Given the description of an element on the screen output the (x, y) to click on. 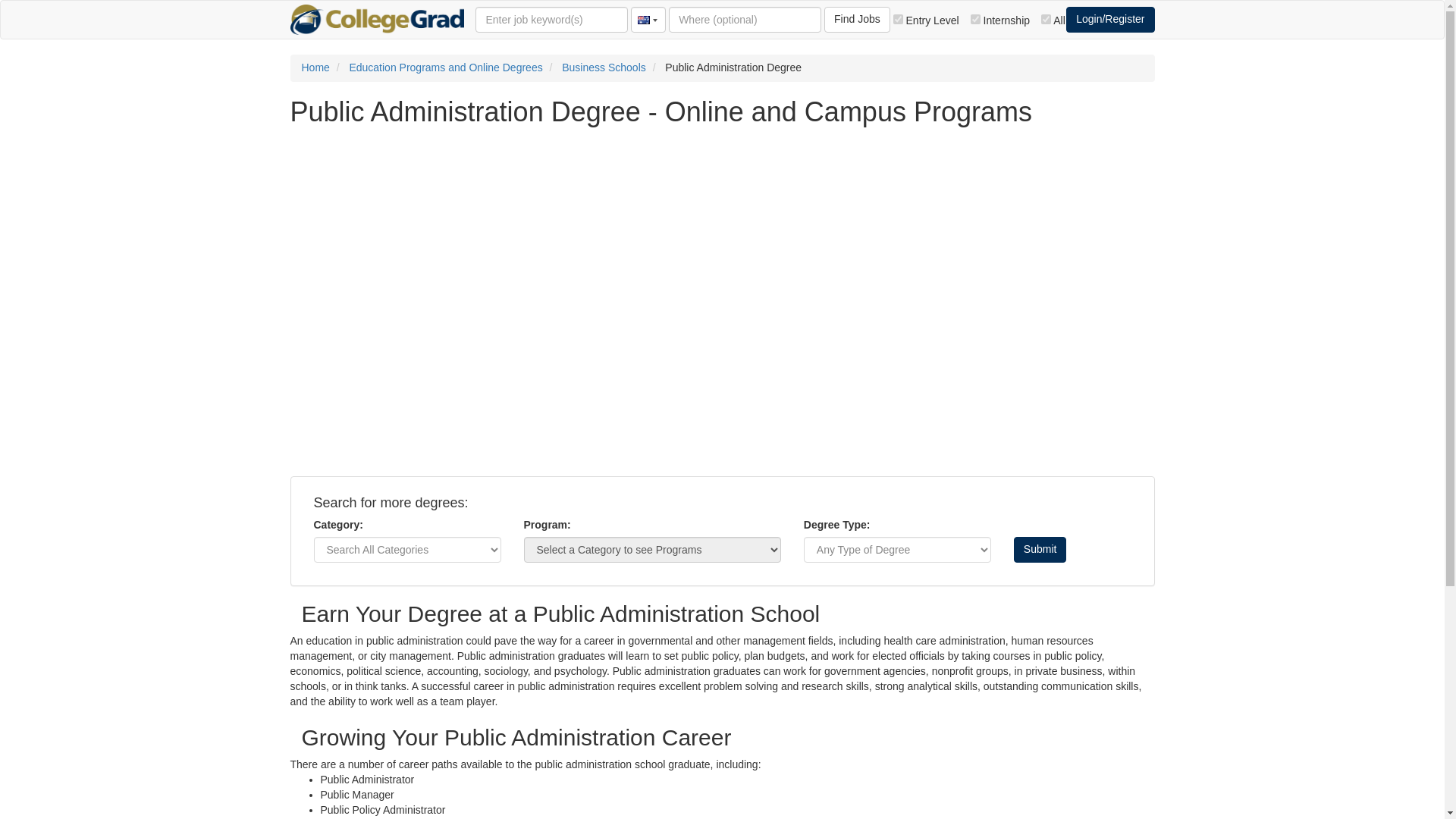
1 (897, 18)
Find Jobs (856, 19)
Home (315, 67)
Business Schools (604, 67)
Submit (1040, 549)
Education Programs and Online Degrees (445, 67)
4 (1046, 18)
Australia (646, 19)
2 (975, 18)
